Given the description of an element on the screen output the (x, y) to click on. 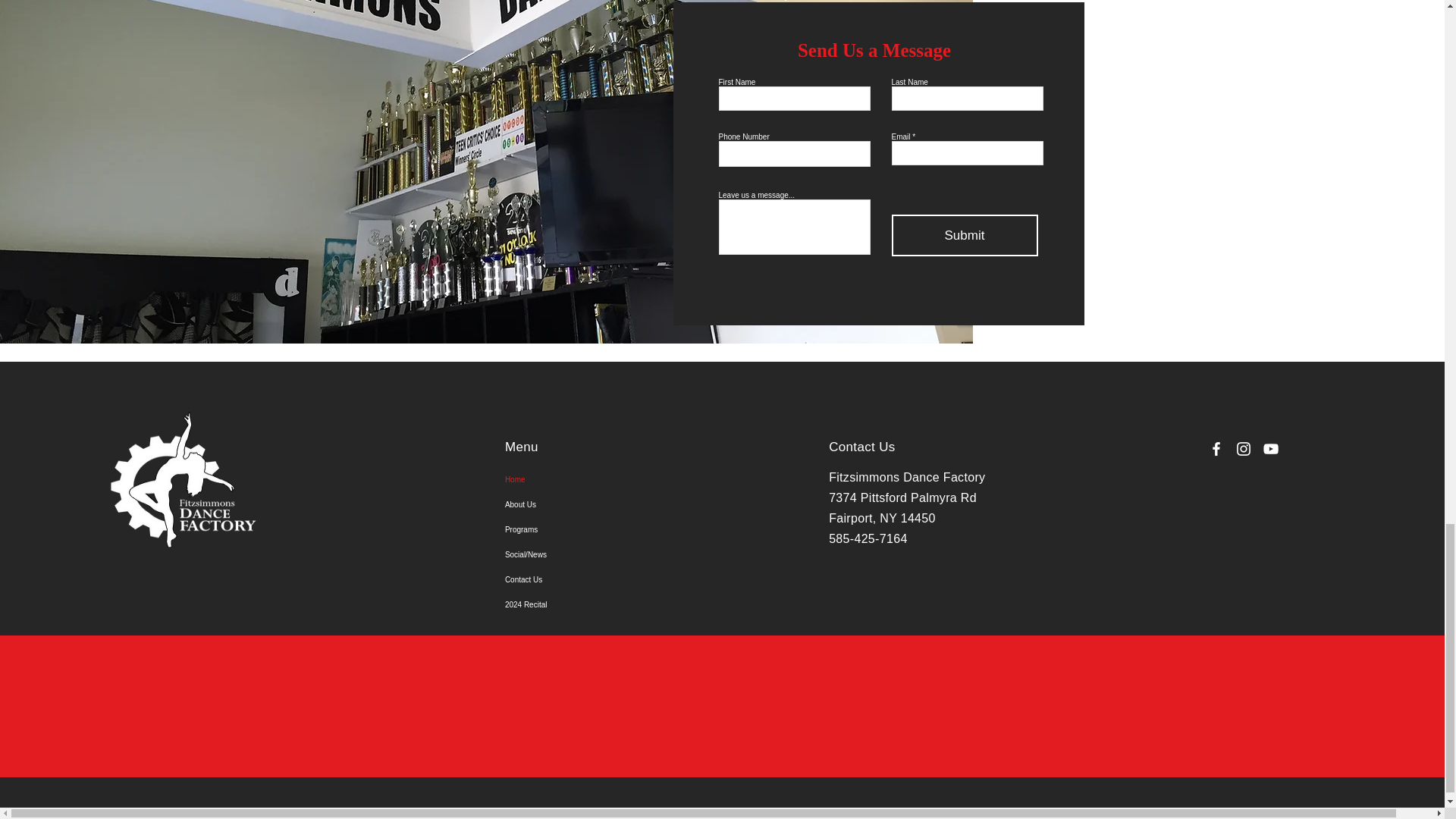
2024 Recital (579, 604)
Home (579, 479)
Submit (964, 235)
About Us (579, 504)
Programs (579, 529)
Contact Us (579, 579)
